Given the description of an element on the screen output the (x, y) to click on. 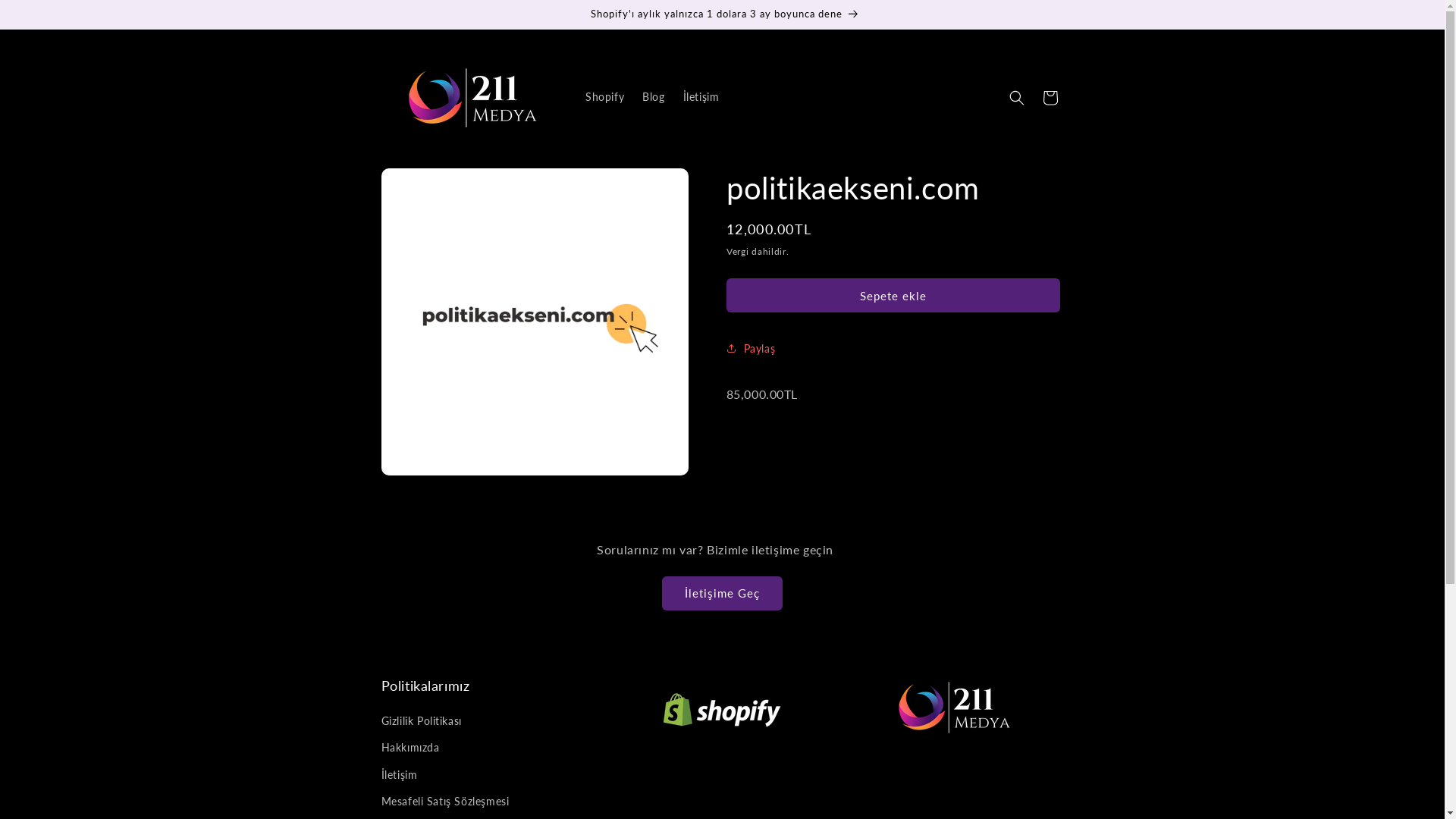
Sepete ekle Element type: text (893, 295)
Blog Element type: text (653, 96)
Sepet Element type: text (1049, 96)
Shopify Element type: text (604, 96)
https://211medya.com/products/politikaekseni-com Element type: text (817, 405)
